Given the description of an element on the screen output the (x, y) to click on. 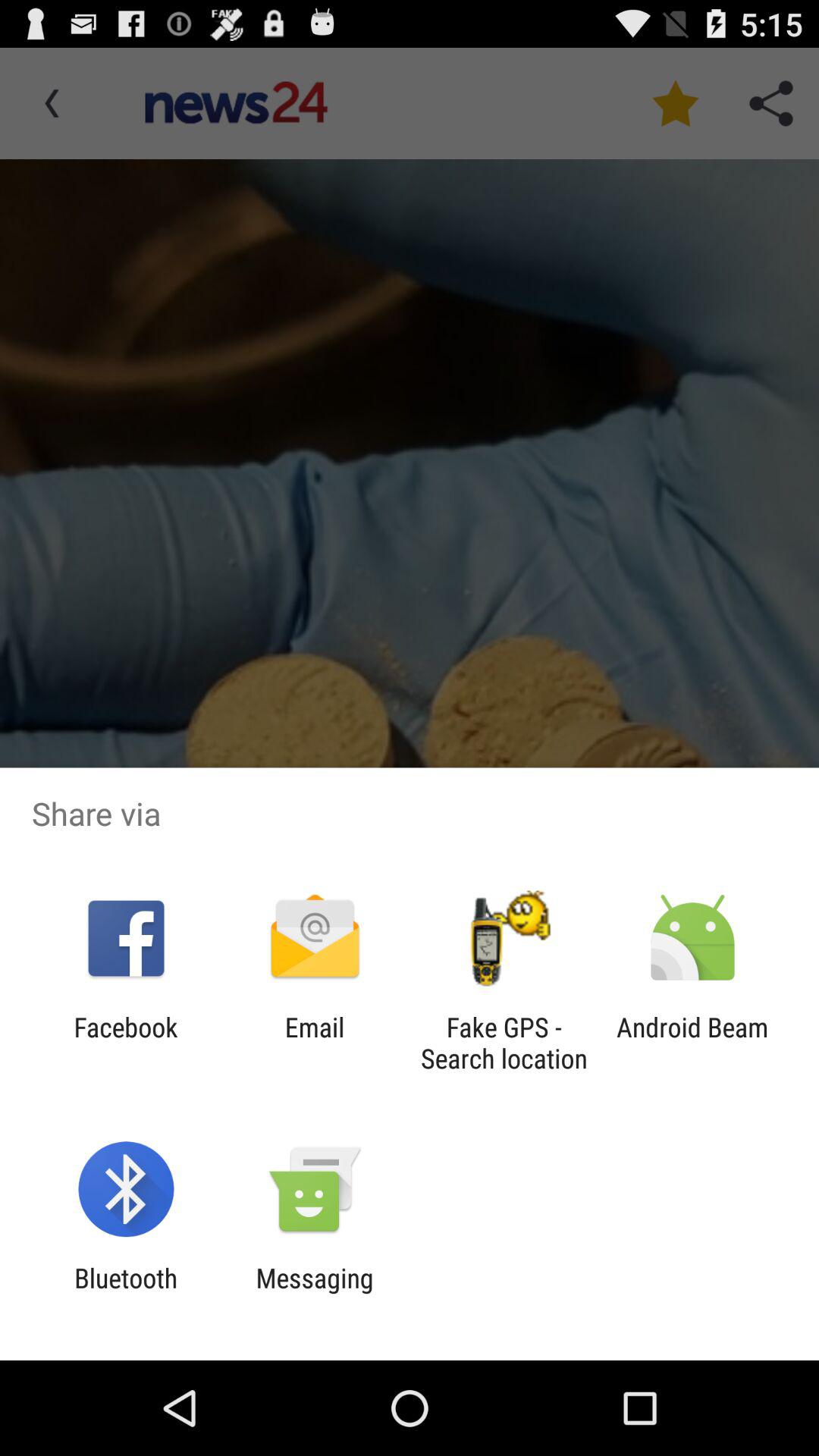
click the email app (314, 1042)
